Given the description of an element on the screen output the (x, y) to click on. 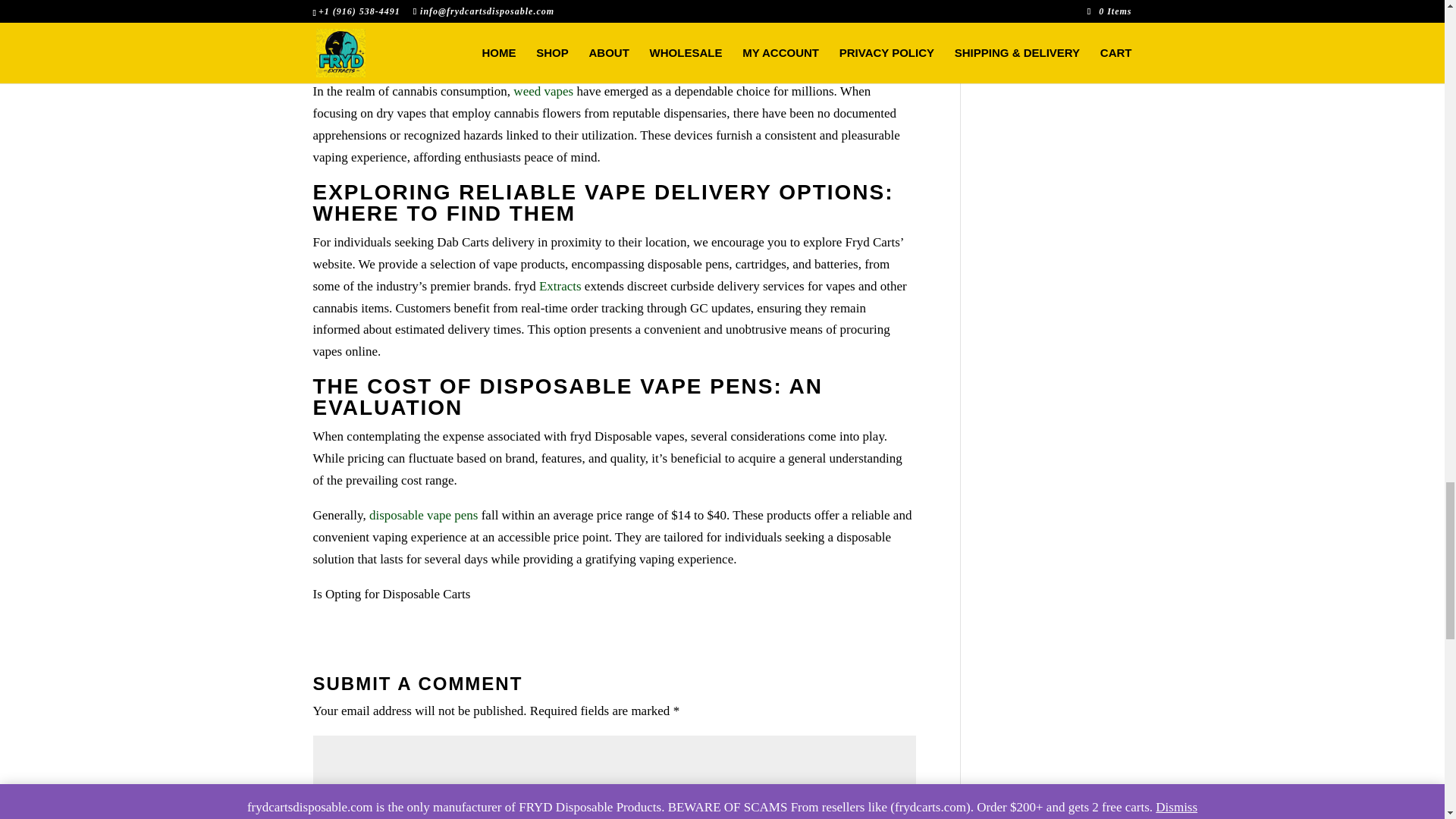
Extracts (559, 286)
weed vapes (542, 91)
disposable vape pens (424, 514)
